Given the description of an element on the screen output the (x, y) to click on. 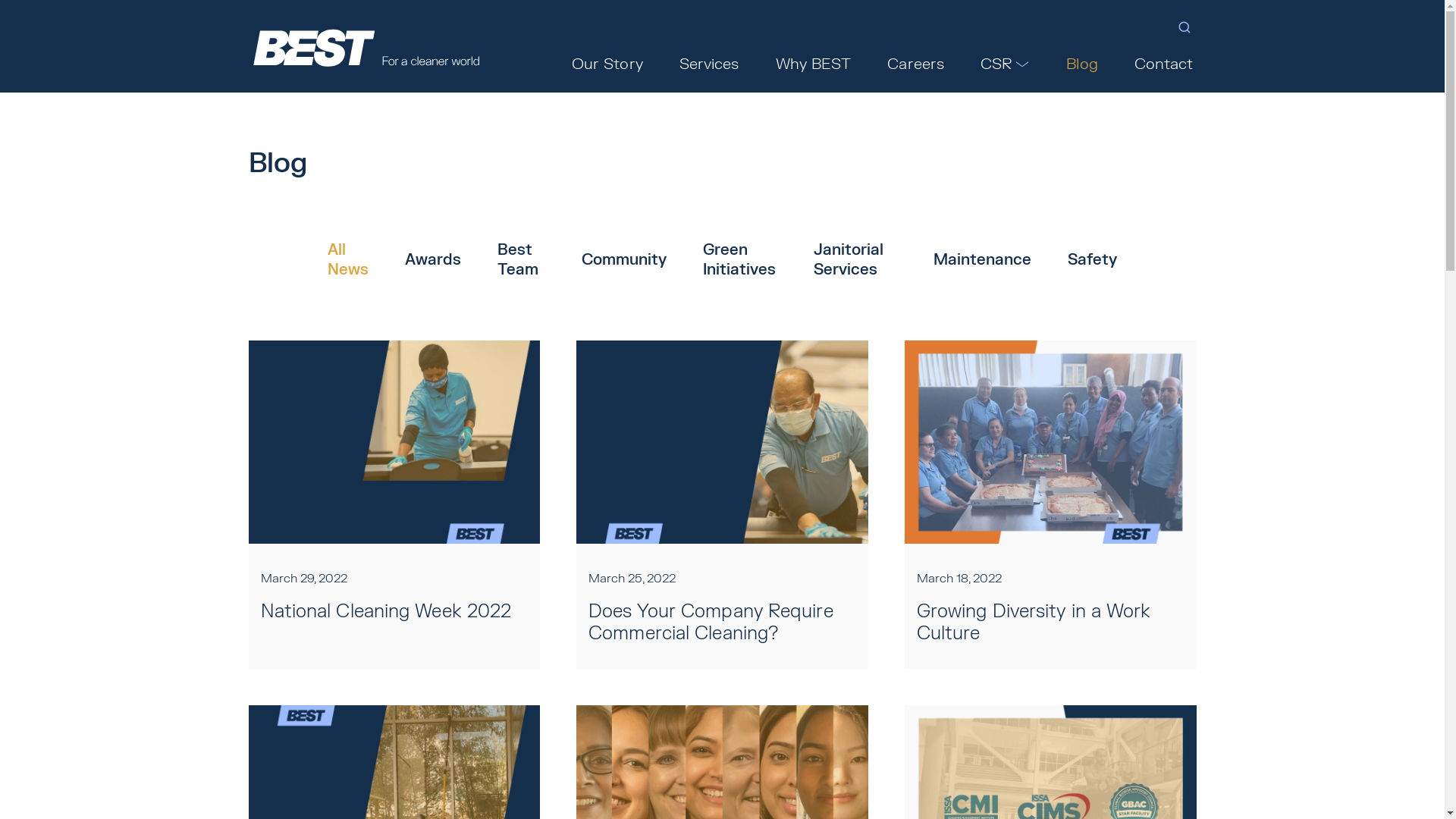
Green Initiatives Element type: text (739, 259)
Blog Element type: text (1081, 64)
Workplace Experience Element type: text (1119, 84)
Janitorial Services Element type: text (855, 259)
March 18, 2022
Growing Diversity in a Work Culture Element type: text (1050, 504)
Awards Element type: text (432, 259)
Careers Element type: text (915, 64)
Safety Element type: text (1092, 259)
March 29, 2022
National Cleaning Week 2022 Element type: text (394, 504)
CSR Home Element type: text (754, 84)
Services Element type: text (709, 64)
CSR Element type: text (1004, 64)
Partnership Element type: text (923, 84)
Best Team Element type: text (521, 259)
Why BEST Element type: text (813, 64)
Community Element type: text (623, 259)
Environment Element type: text (837, 84)
Maintenance Element type: text (982, 259)
Contact Element type: text (1163, 64)
Community Element type: text (1006, 84)
Our Story Element type: text (607, 64)
All News Element type: text (347, 259)
